Given the description of an element on the screen output the (x, y) to click on. 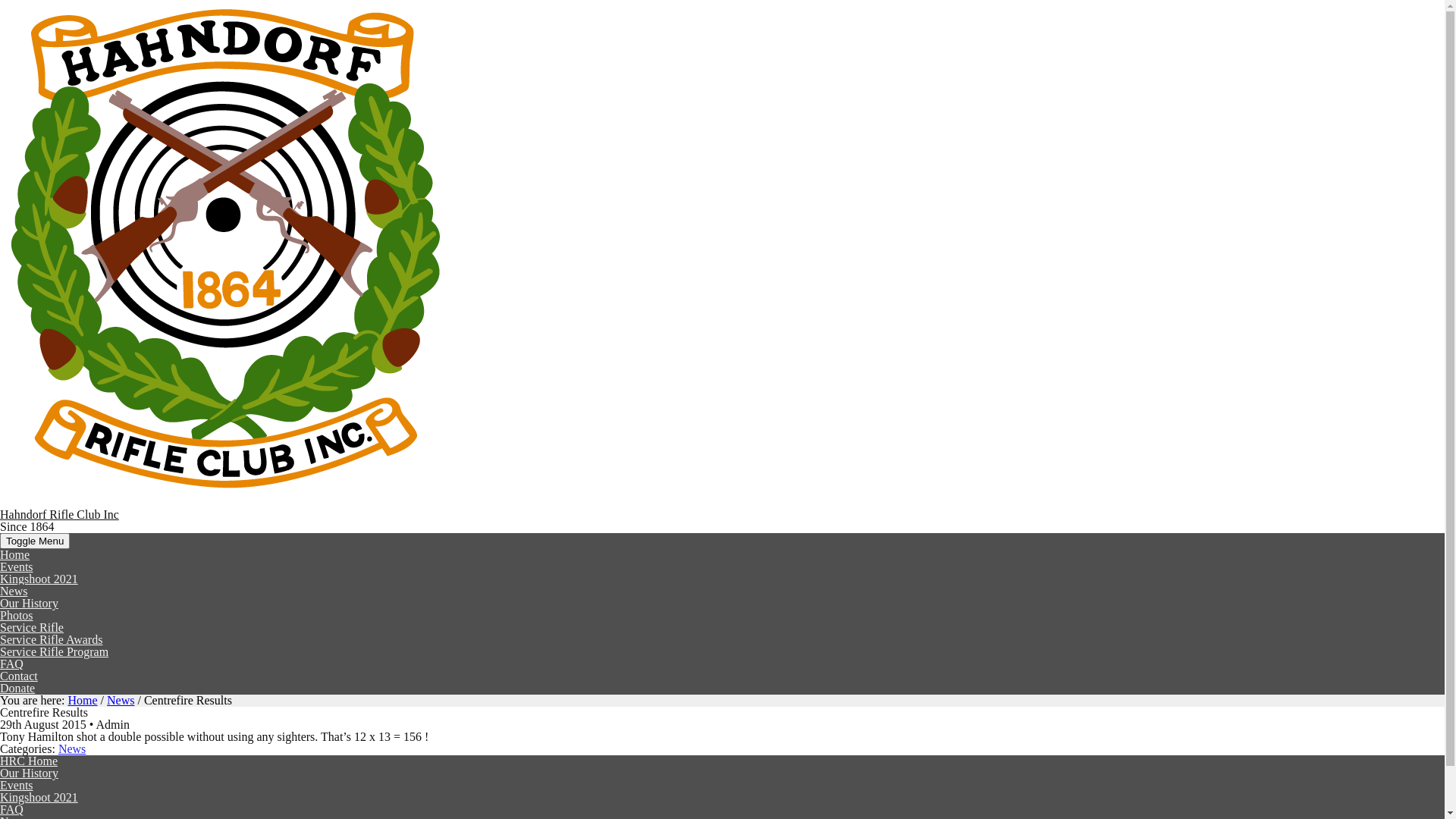
Service Rifle Element type: text (31, 627)
Contact Element type: text (18, 675)
Home Element type: text (82, 699)
FAQ Element type: text (11, 809)
Home Element type: text (14, 554)
Photos Element type: text (16, 614)
News Element type: text (13, 590)
Service Rifle Awards Element type: text (51, 639)
Donate Element type: text (17, 687)
Service Rifle Program Element type: text (54, 651)
Events Element type: text (16, 784)
News Element type: text (120, 699)
FAQ Element type: text (11, 663)
HRC Home Element type: text (28, 760)
Kingshoot 2021 Element type: text (39, 578)
Our History Element type: text (29, 602)
Kingshoot 2021 Element type: text (39, 796)
News Element type: text (71, 748)
Our History Element type: text (29, 772)
Hahndorf Rifle Club Inc Element type: text (59, 514)
Events Element type: text (16, 566)
Toggle Menu Element type: text (34, 541)
